Given the description of an element on the screen output the (x, y) to click on. 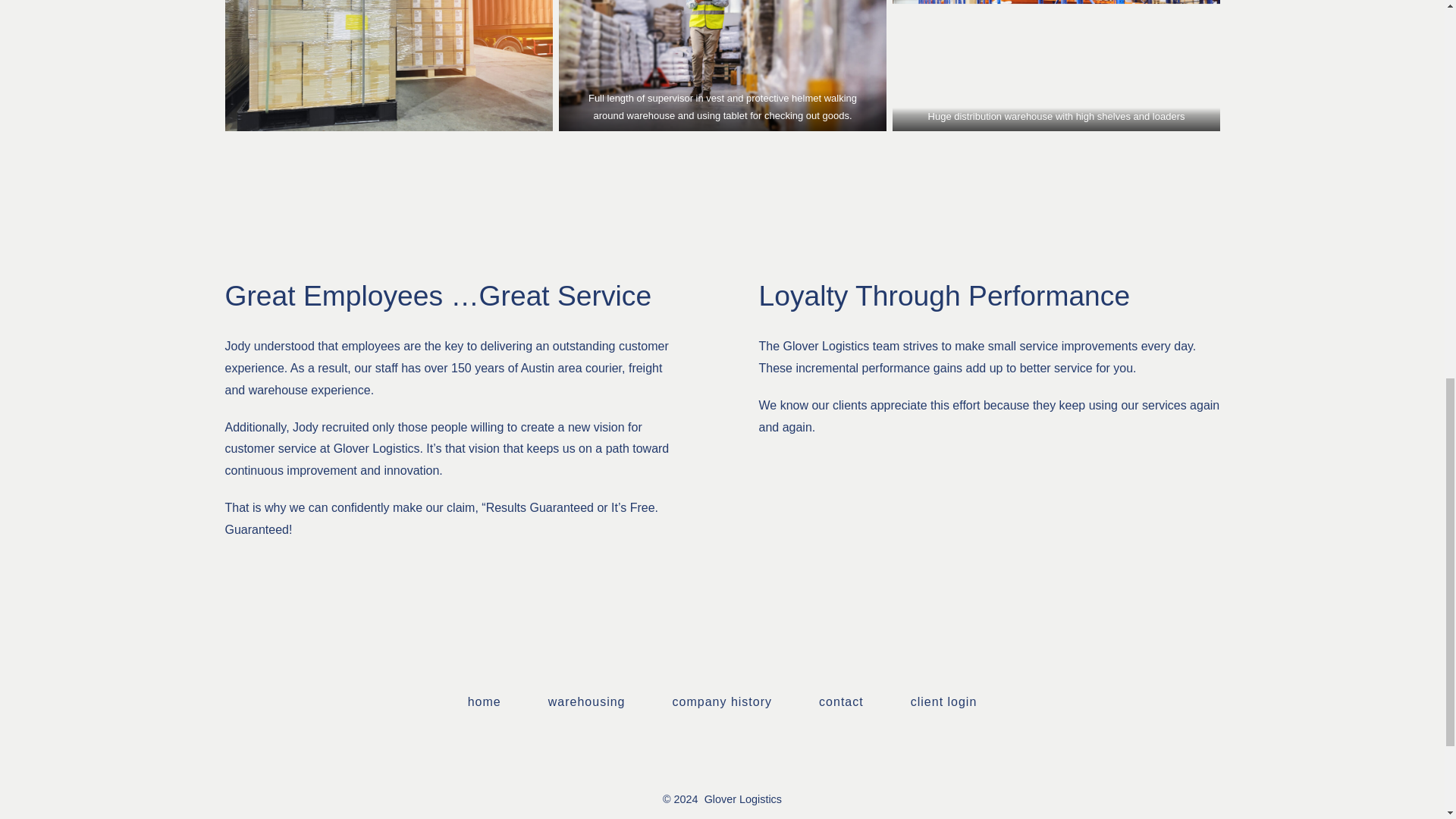
contact (840, 702)
company history (721, 702)
warehousing (585, 702)
client login (943, 702)
home (483, 702)
